Given the description of an element on the screen output the (x, y) to click on. 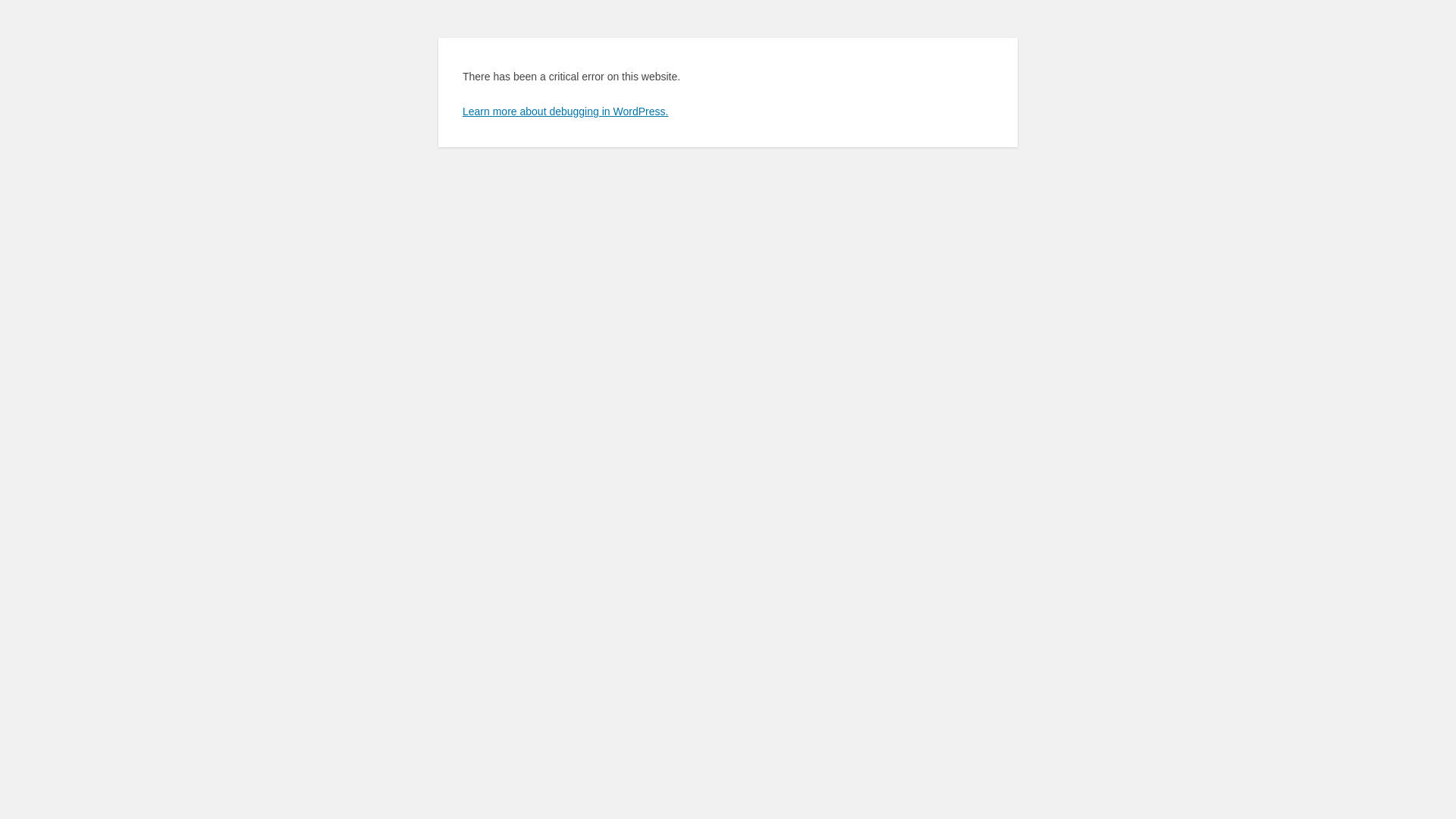
Learn more about debugging in WordPress. Element type: text (565, 111)
